Given the description of an element on the screen output the (x, y) to click on. 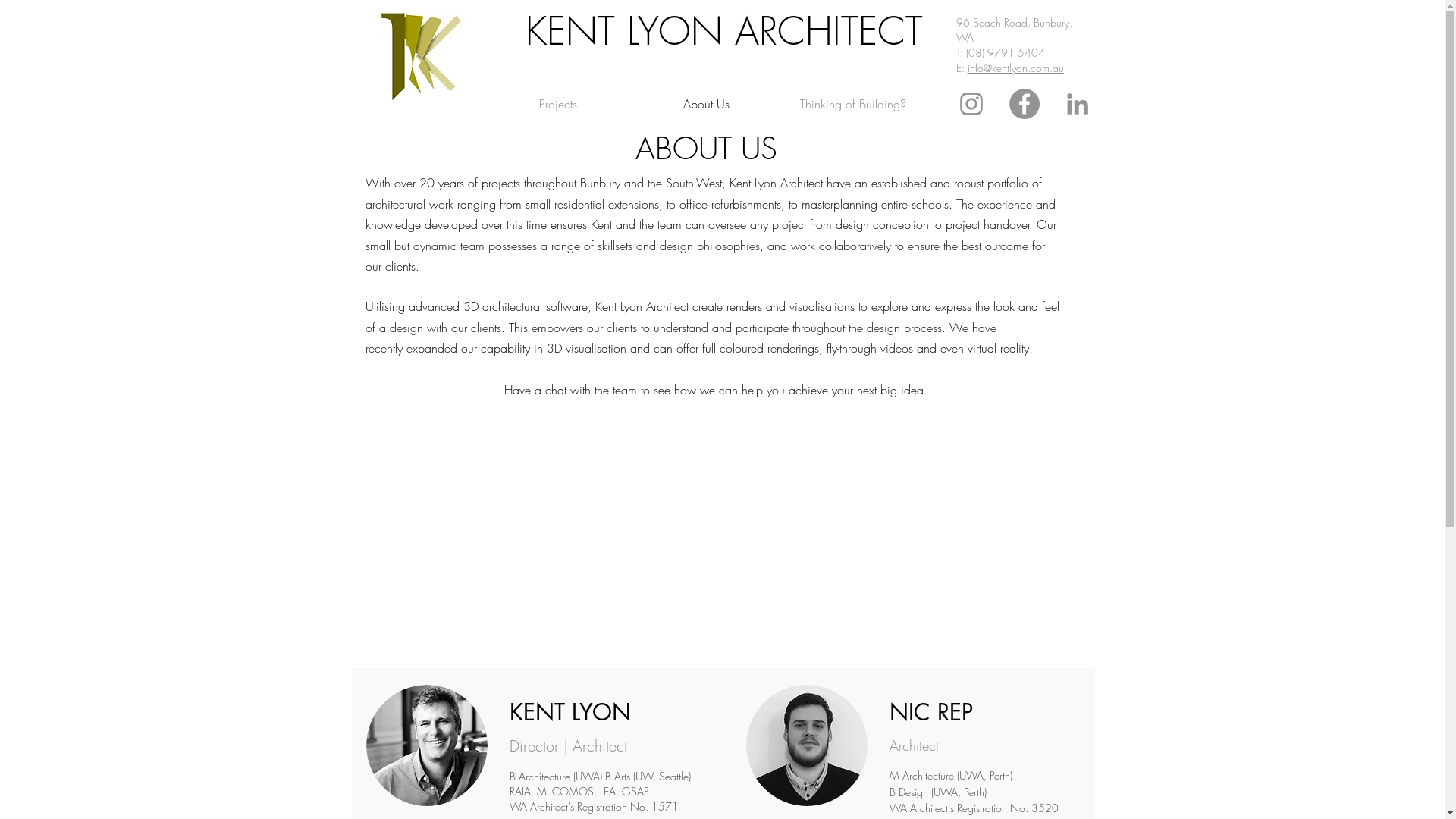
About Us Element type: text (705, 103)
info@kentlyon.com.au Element type: text (1015, 67)
KENT LYON ARCHITECT Element type: text (723, 31)
KL_Ver_Col_RGB.jpg Element type: hover (417, 61)
Thinking of Building? Element type: text (852, 103)
Google Maps Element type: hover (723, 532)
